Given the description of an element on the screen output the (x, y) to click on. 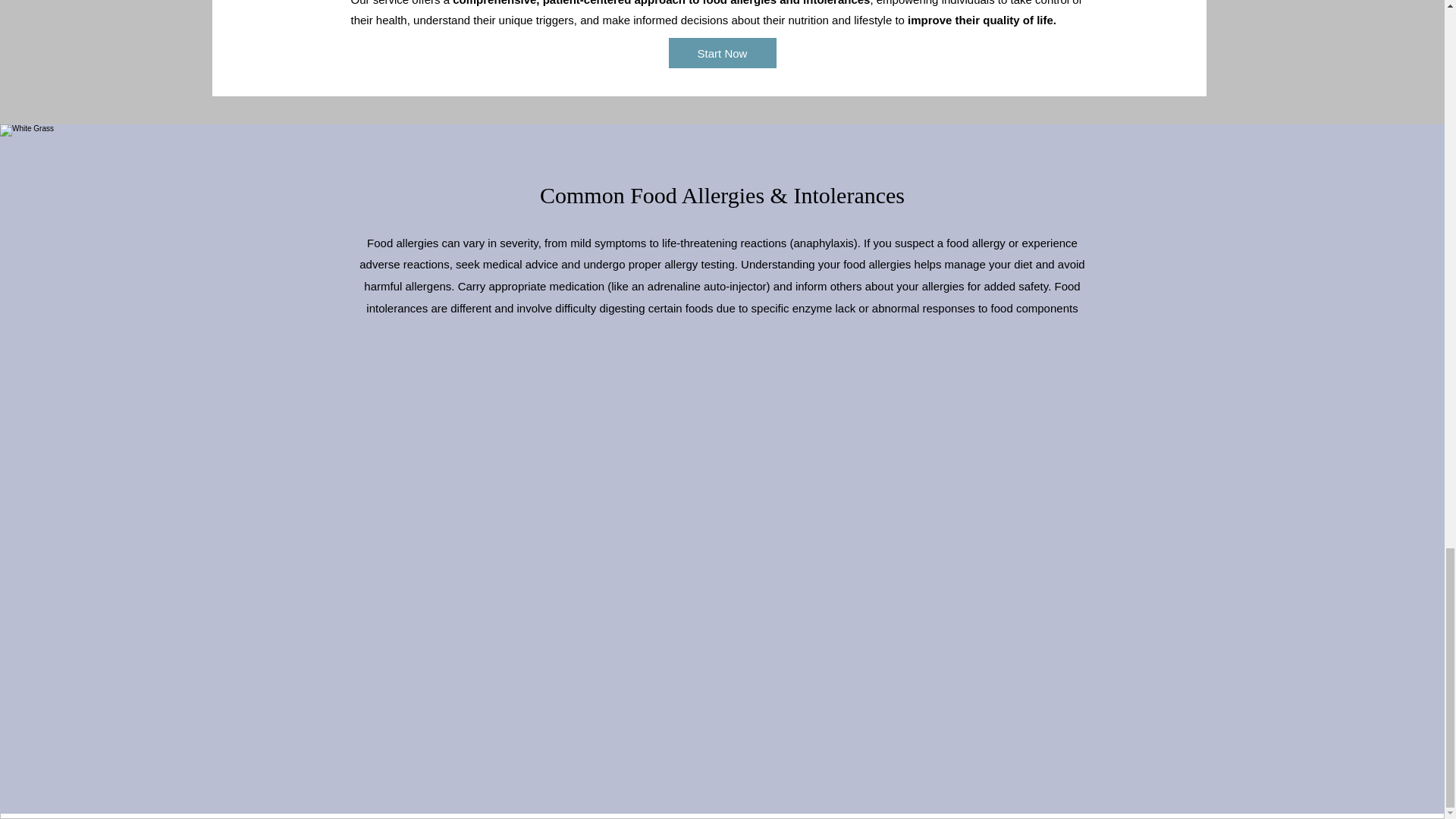
Start Now (722, 52)
